Given the description of an element on the screen output the (x, y) to click on. 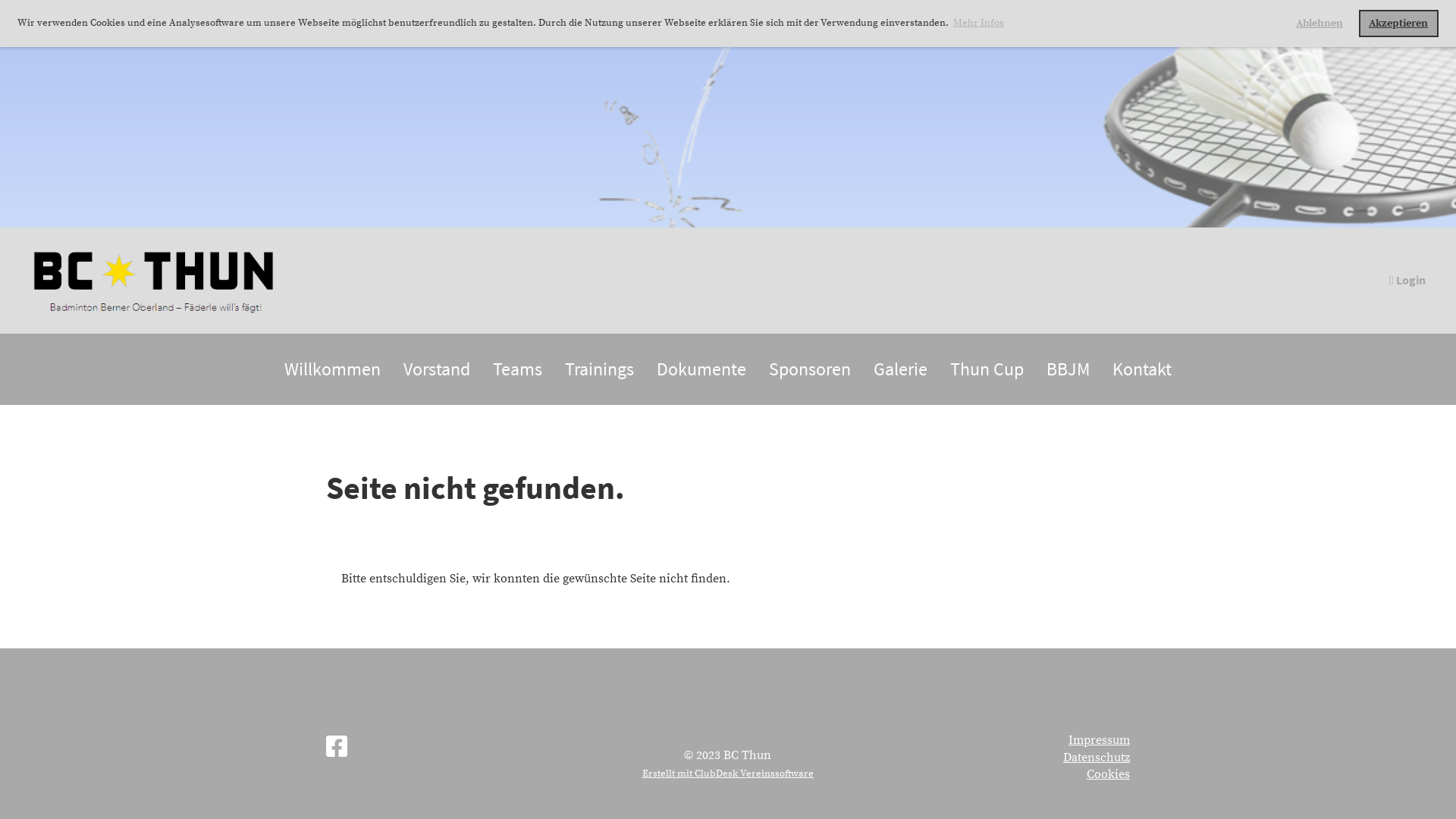
Teams Element type: text (517, 368)
Dokumente Element type: text (701, 368)
Galerie Element type: text (900, 368)
Impressum Element type: text (1098, 739)
Datenschutz Element type: text (1096, 757)
Thun Cup Element type: text (986, 368)
Willkommen Element type: text (332, 368)
Login Element type: text (1405, 279)
Sponsoren Element type: text (809, 368)
Vorstand Element type: text (436, 368)
Akzeptieren Element type: text (1398, 23)
Erstellt mit ClubDesk Vereinssoftware Element type: text (727, 773)
Ablehnen Element type: text (1318, 23)
Mehr Infos Element type: text (977, 22)
Kontakt Element type: text (1142, 368)
BBJM Element type: text (1068, 368)
Cookies Element type: text (1107, 773)
Trainings Element type: text (599, 368)
